Given the description of an element on the screen output the (x, y) to click on. 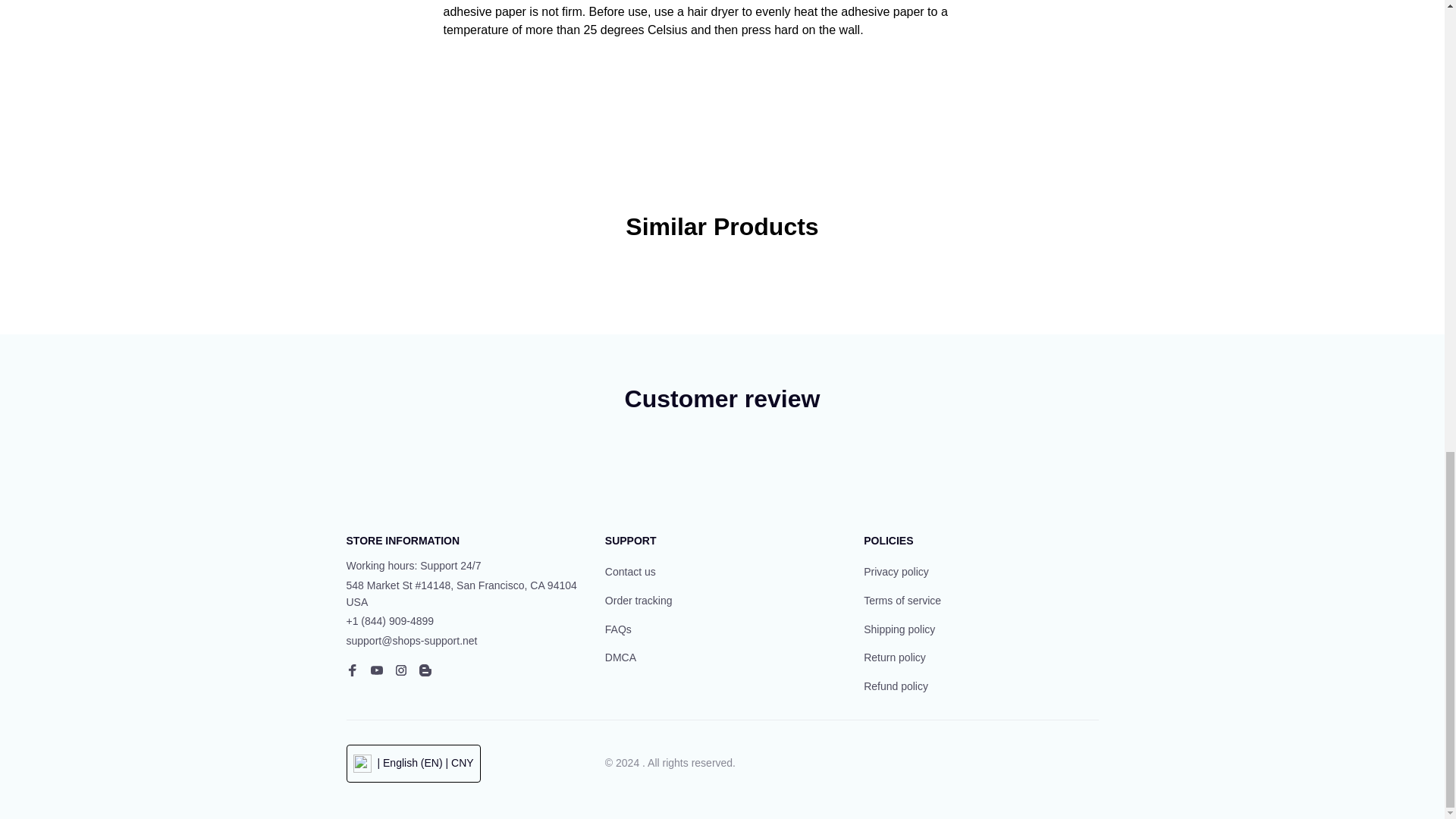
Return policy (894, 658)
Terms of service (901, 600)
Order tracking (638, 600)
FAQs (618, 629)
Privacy policy (895, 572)
DMCA (620, 658)
Shipping policy (898, 629)
Contact us (630, 572)
Refund policy (895, 686)
